Given the description of an element on the screen output the (x, y) to click on. 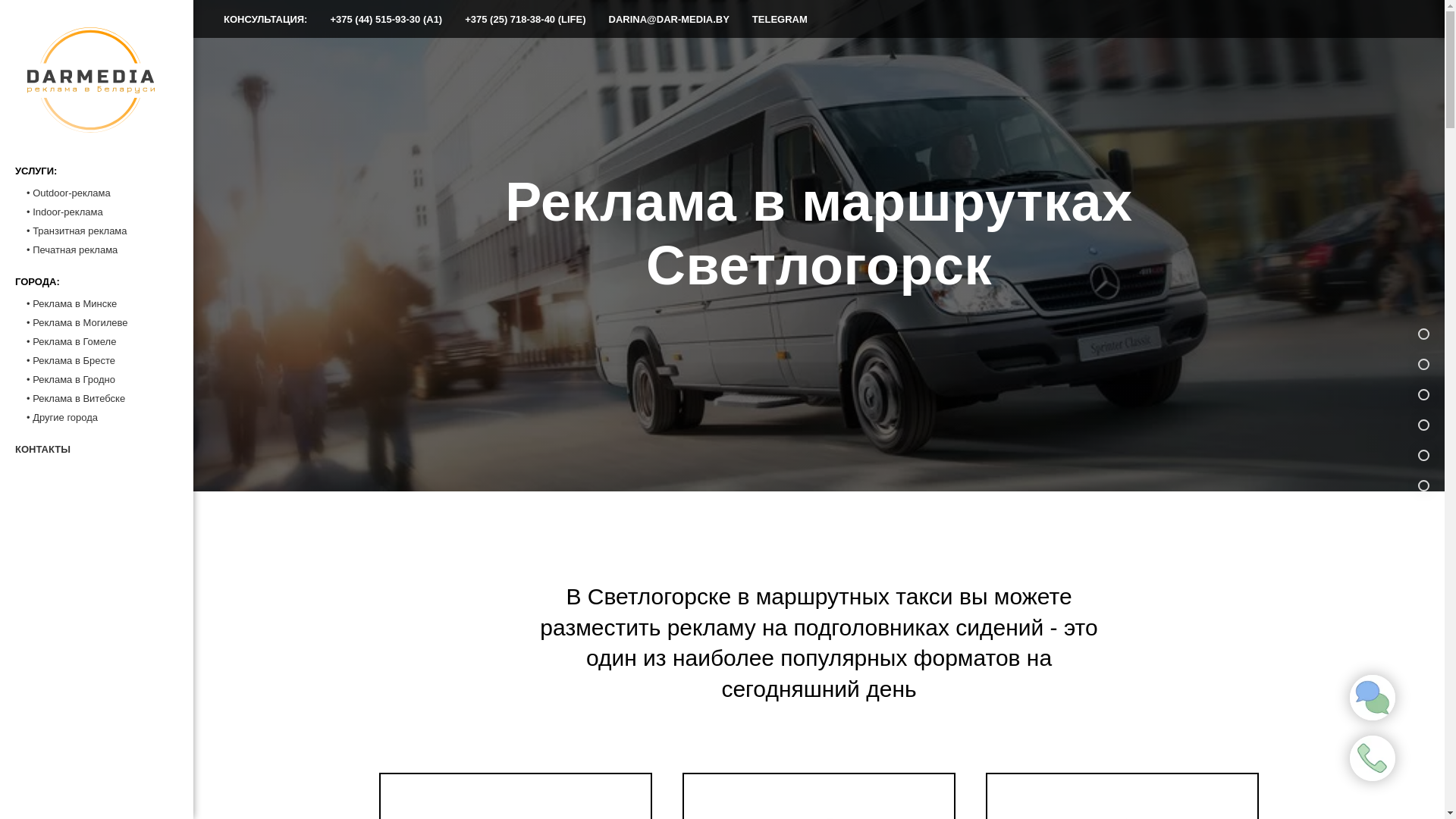
DARINA@DAR-MEDIA.BY Element type: text (668, 19)
TELEGRAM Element type: text (779, 19)
+375 (25) 718-38-40 (LIFE) Element type: text (524, 19)
